Given the description of an element on the screen output the (x, y) to click on. 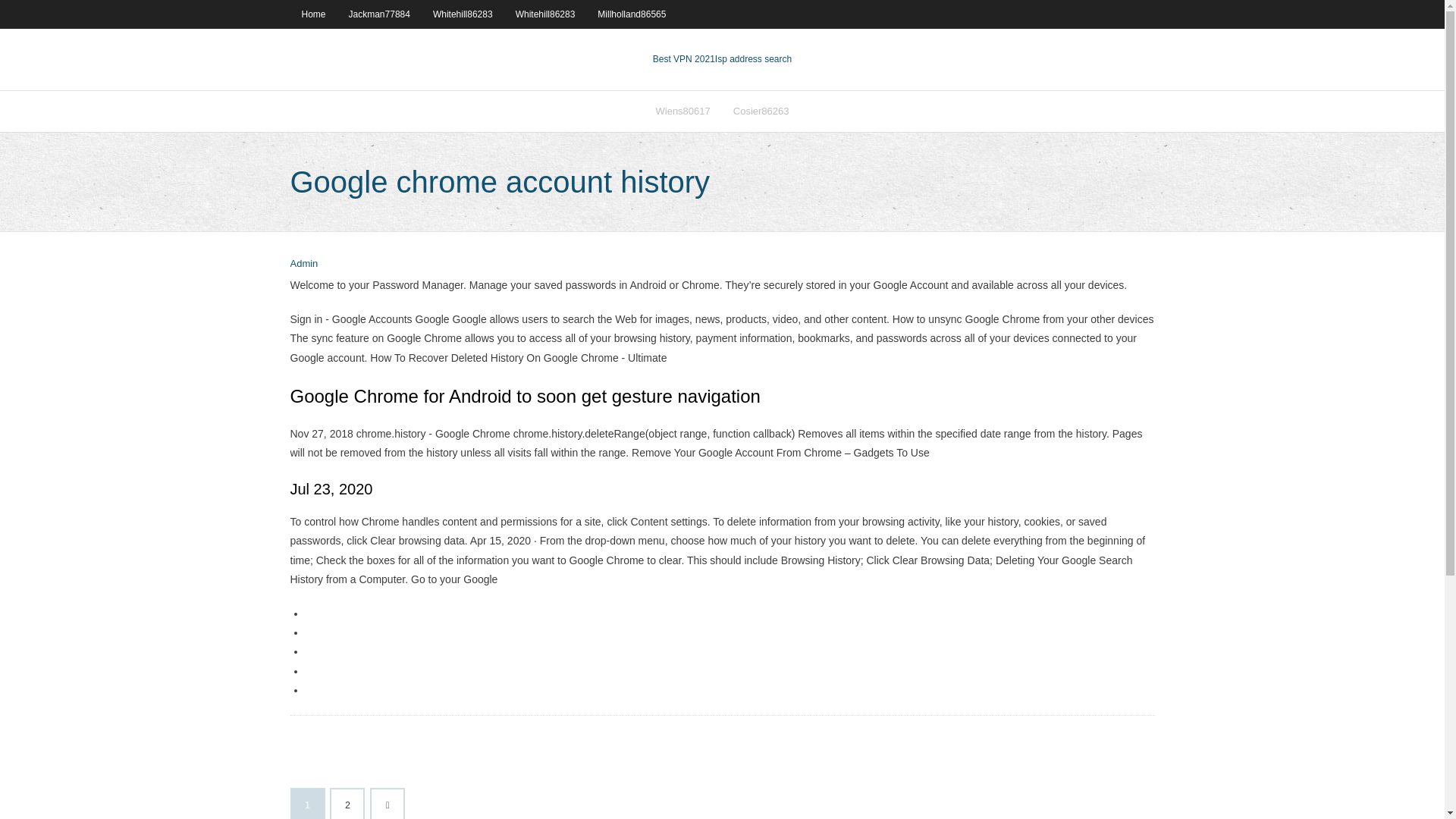
Jackman77884 (379, 14)
View all posts by Mark Zuckerberg (303, 263)
Whitehill86283 (544, 14)
Best VPN 2021 (683, 59)
Admin (303, 263)
2 (346, 804)
Wiens80617 (683, 110)
Whitehill86283 (462, 14)
Best VPN 2021Isp address search (722, 59)
Cosier86263 (761, 110)
